Given the description of an element on the screen output the (x, y) to click on. 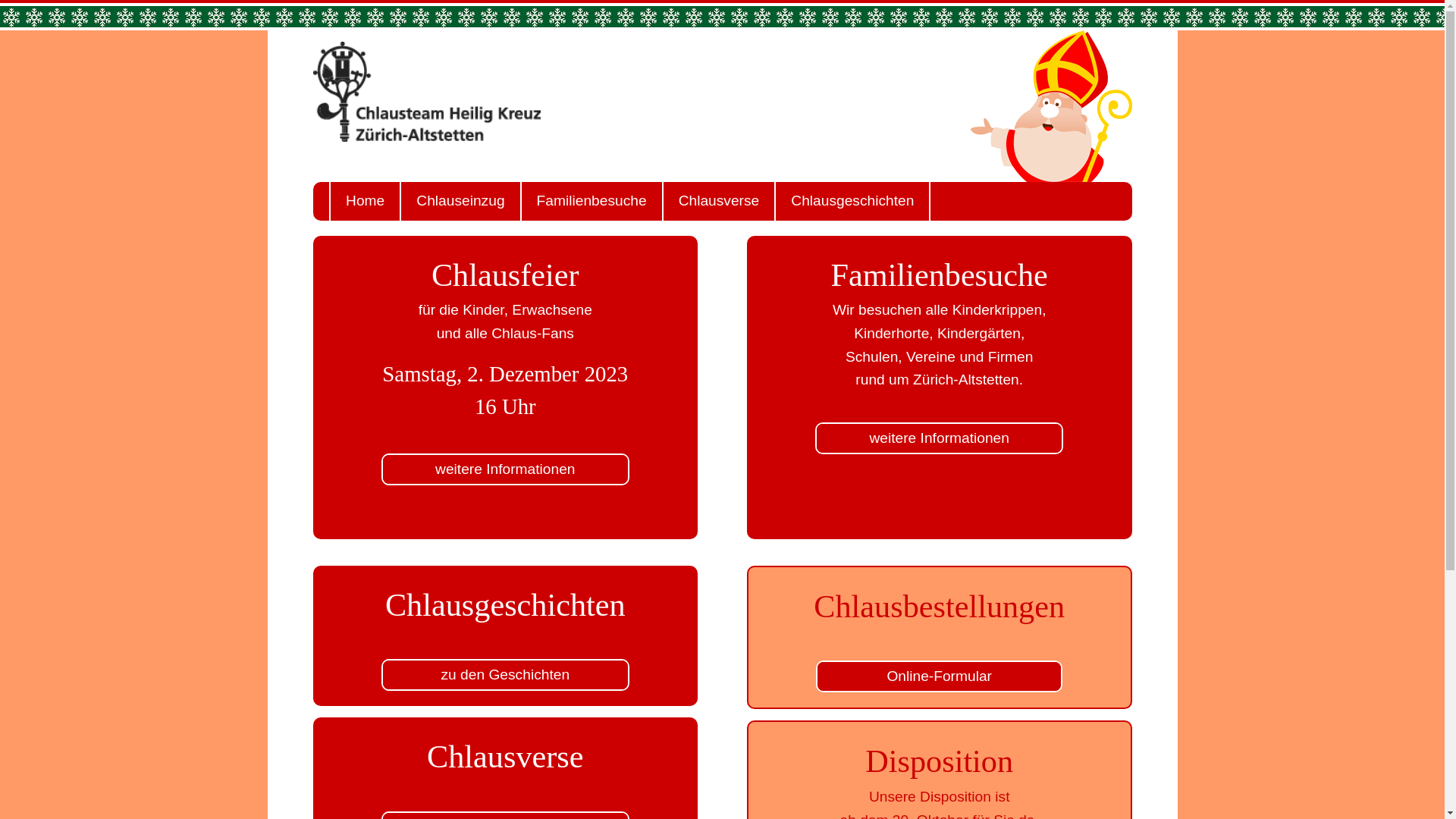
weitere Informationen Element type: text (938, 437)
zu den Geschichten Element type: text (504, 674)
Chlauseinzug Element type: text (459, 201)
Online-Formular Element type: text (938, 676)
Chlausverse Element type: text (718, 201)
Familienbesuche Element type: text (591, 201)
Home Element type: text (364, 201)
Chlausgeschichten Element type: text (851, 201)
weitere Informationen Element type: text (504, 469)
